Given the description of an element on the screen output the (x, y) to click on. 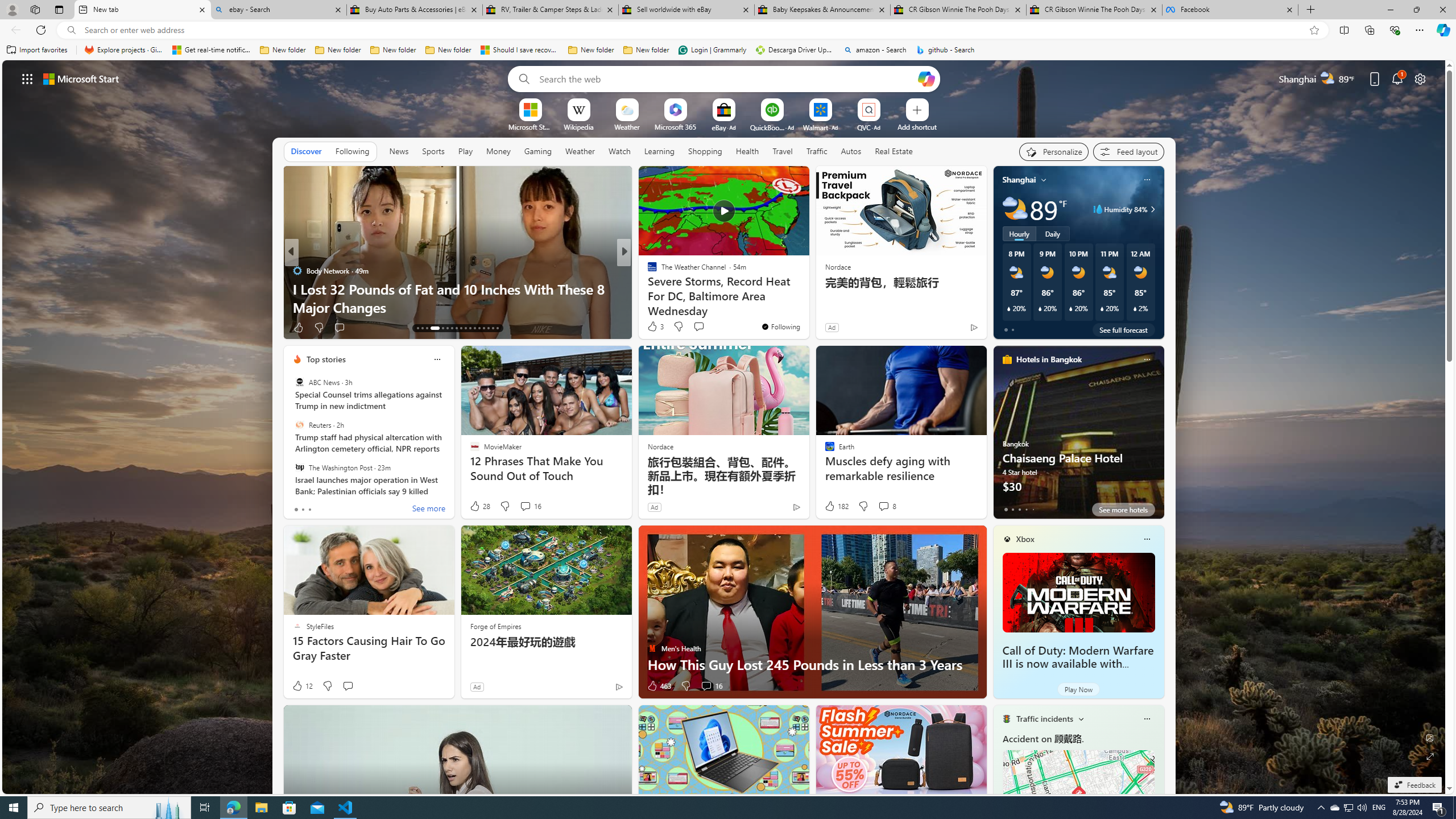
Wikipedia (578, 126)
View comments 8 Comment (887, 505)
116 Like (654, 327)
Ad Choice (619, 686)
Traffic Title Traffic Light (1005, 718)
13 Like (652, 327)
Feedback (1414, 784)
Gaming (537, 151)
Shopping (705, 151)
Microsoft start (81, 78)
28 Like (479, 505)
Las Vegas Strip visitors face outrageous new fee (807, 307)
